Given the description of an element on the screen output the (x, y) to click on. 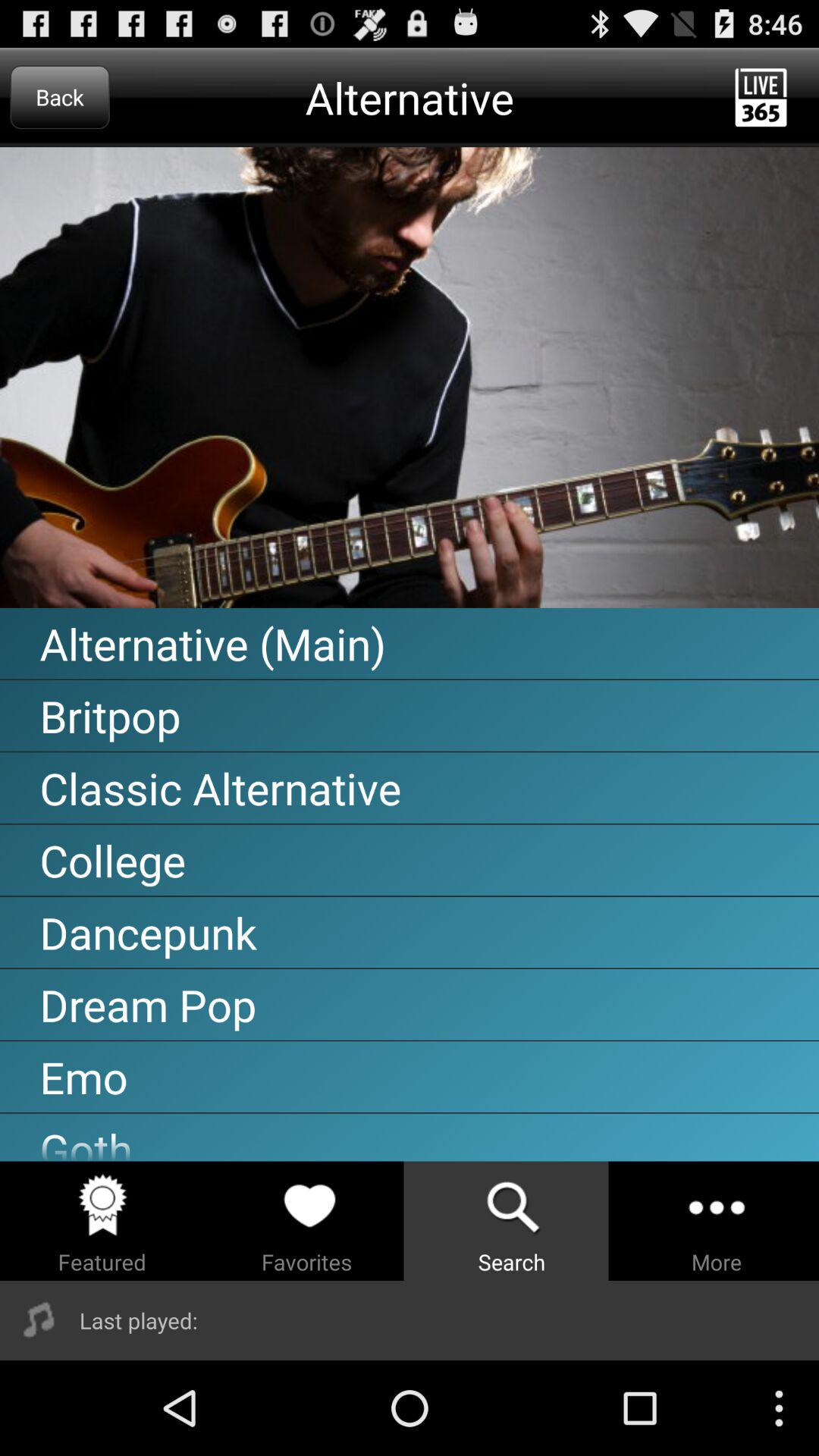
tap the icon to the left of alternative (59, 97)
